Given the description of an element on the screen output the (x, y) to click on. 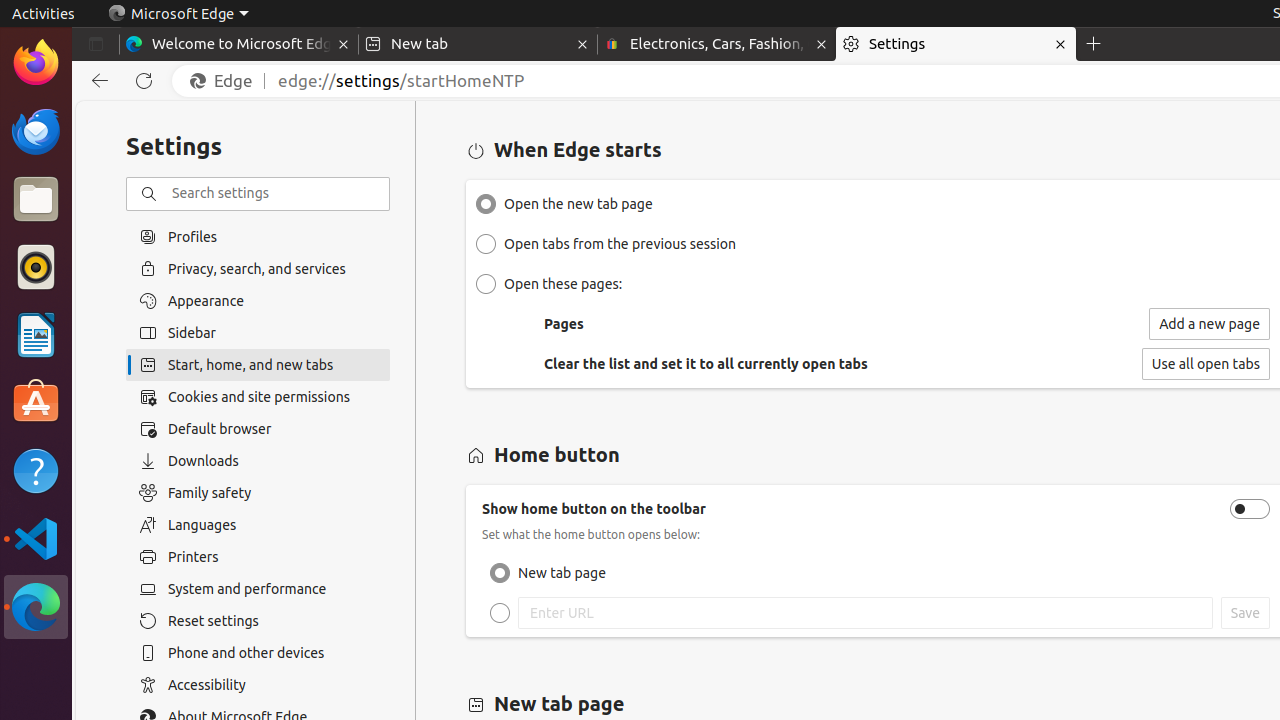
Files Element type: push-button (36, 199)
Thunderbird Mail Element type: push-button (36, 131)
Back Element type: push-button (96, 81)
New Tab Element type: push-button (1094, 44)
New tab page Element type: radio-button (500, 573)
